Given the description of an element on the screen output the (x, y) to click on. 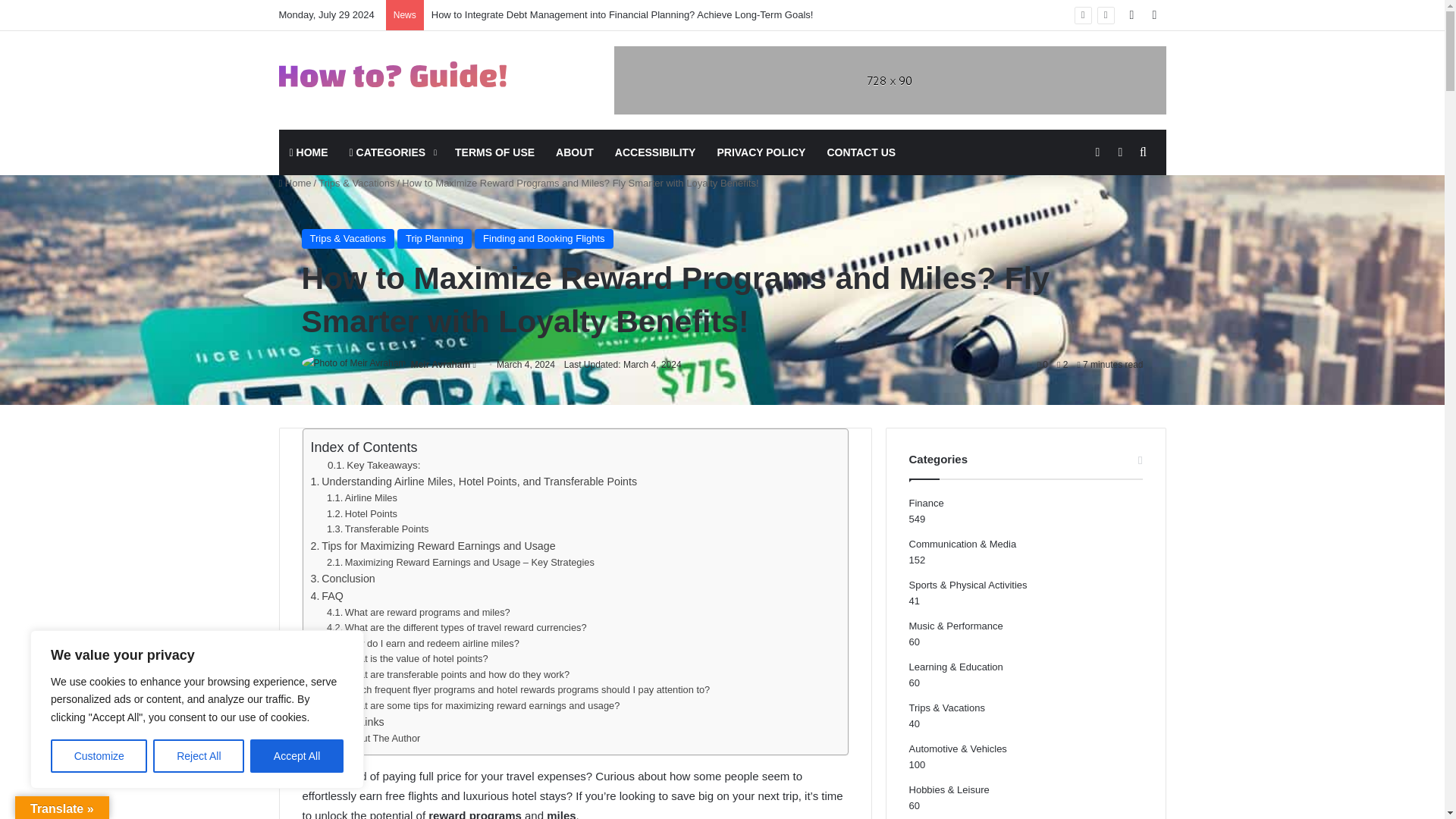
ACCESSIBILITY (655, 152)
Airline Miles (361, 498)
Tips for Maximizing Reward Earnings and Usage (433, 546)
Customize (98, 756)
Home (295, 183)
HOME (309, 152)
ABOUT (574, 152)
PRIVACY POLICY (760, 152)
CONTACT US (860, 152)
CATEGORIES (392, 152)
How to...? Guide! (392, 73)
Reject All (198, 756)
TERMS OF USE (494, 152)
